Given the description of an element on the screen output the (x, y) to click on. 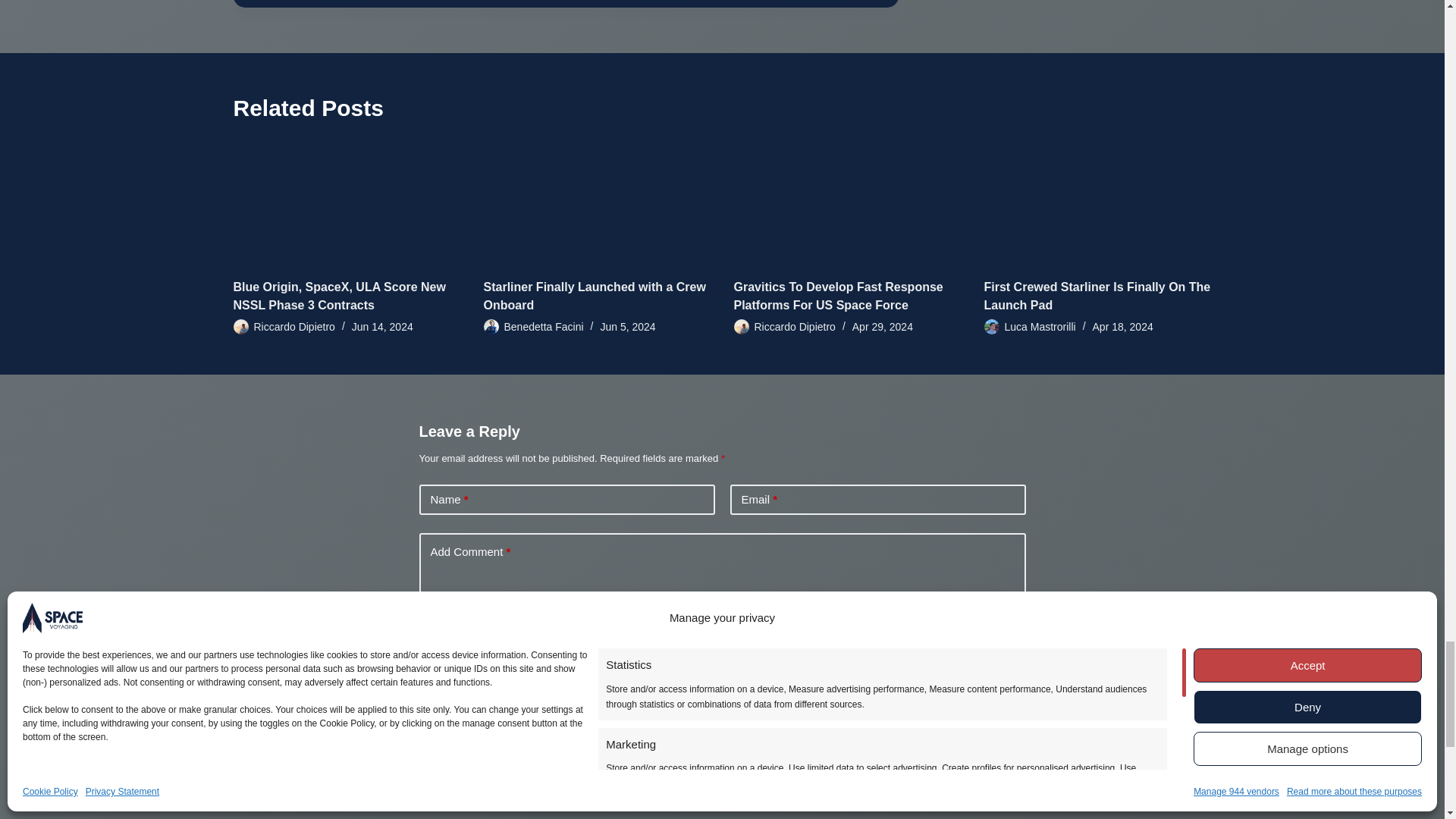
yes (424, 689)
Posts by Riccardo Dipietro (293, 326)
Posts by Benedetta Facini (543, 326)
Posts by Riccardo Dipietro (794, 326)
Posts by Luca Mastrorilli (1039, 326)
